Given the description of an element on the screen output the (x, y) to click on. 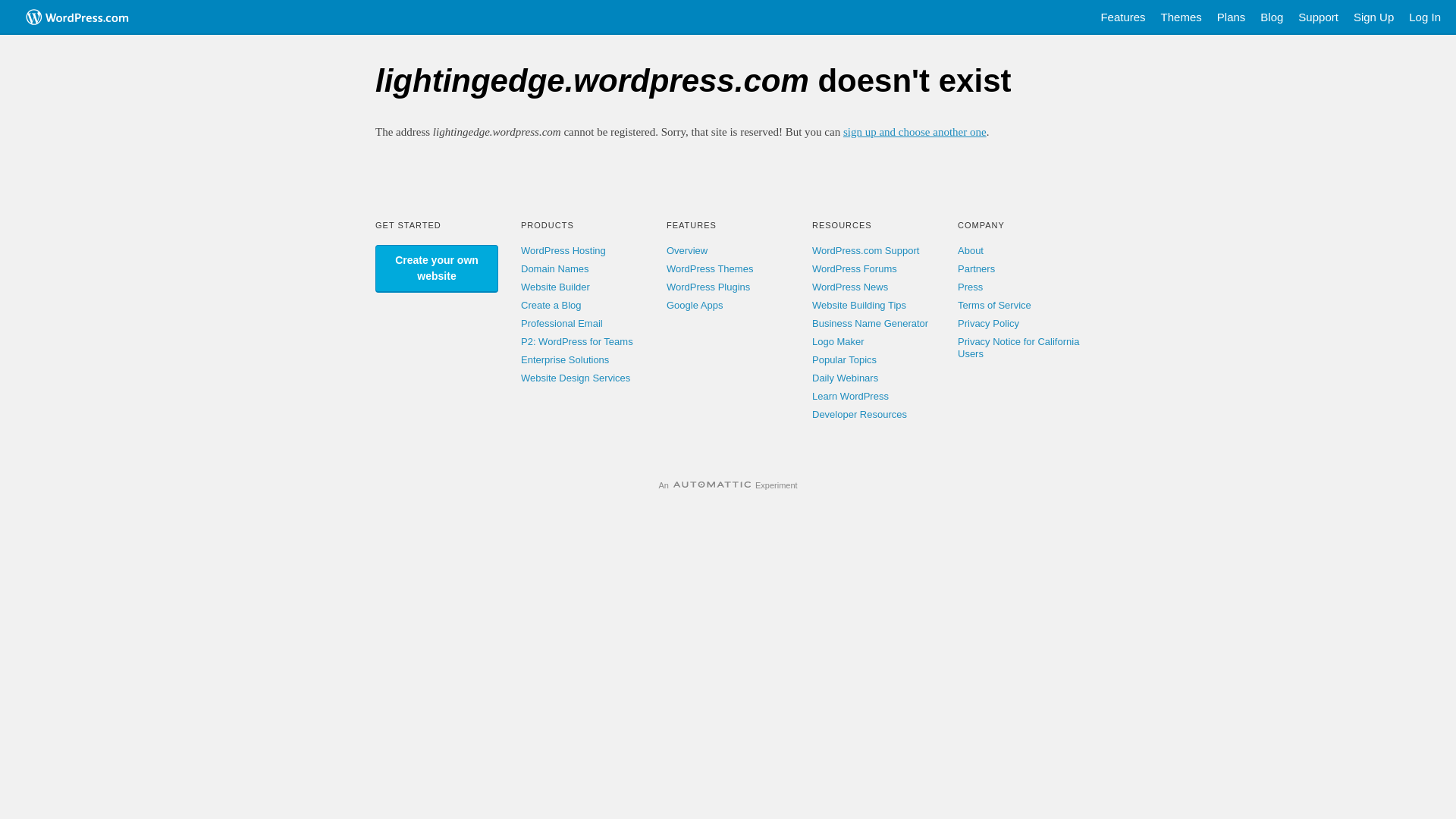
Developer Resources Element type: text (859, 414)
Sign Up Element type: text (1373, 17)
Learn WordPress Element type: text (850, 395)
Overview Element type: text (686, 250)
Themes Element type: text (1181, 17)
About Element type: text (970, 250)
WordPress Themes Element type: text (709, 268)
Support Element type: text (1318, 17)
Daily Webinars Element type: text (845, 377)
Professional Email Element type: text (561, 323)
sign up and choose another one Element type: text (914, 131)
Plans Element type: text (1231, 17)
Features Element type: text (1122, 17)
Terms of Service Element type: text (994, 304)
Website Design Services Element type: text (575, 377)
WordPress Plugins Element type: text (707, 286)
Logo Maker Element type: text (838, 341)
WordPress News Element type: text (850, 286)
Create a Blog Element type: text (550, 304)
Website Builder Element type: text (554, 286)
Google Apps Element type: text (694, 304)
WordPress.com Support Element type: text (865, 250)
Popular Topics Element type: text (844, 359)
Log In Element type: text (1424, 17)
Business Name Generator Element type: text (870, 323)
Privacy Policy Element type: text (988, 323)
Create your own website Element type: text (436, 268)
P2: WordPress for Teams Element type: text (576, 341)
Domain Names Element type: text (554, 268)
Partners Element type: text (975, 268)
WordPress Hosting Element type: text (562, 250)
Automattic Element type: text (711, 485)
Enterprise Solutions Element type: text (564, 359)
Website Building Tips Element type: text (859, 304)
Blog Element type: text (1271, 17)
WordPress Forums Element type: text (854, 268)
Press Element type: text (969, 286)
Privacy Notice for California Users Element type: text (1018, 347)
